Given the description of an element on the screen output the (x, y) to click on. 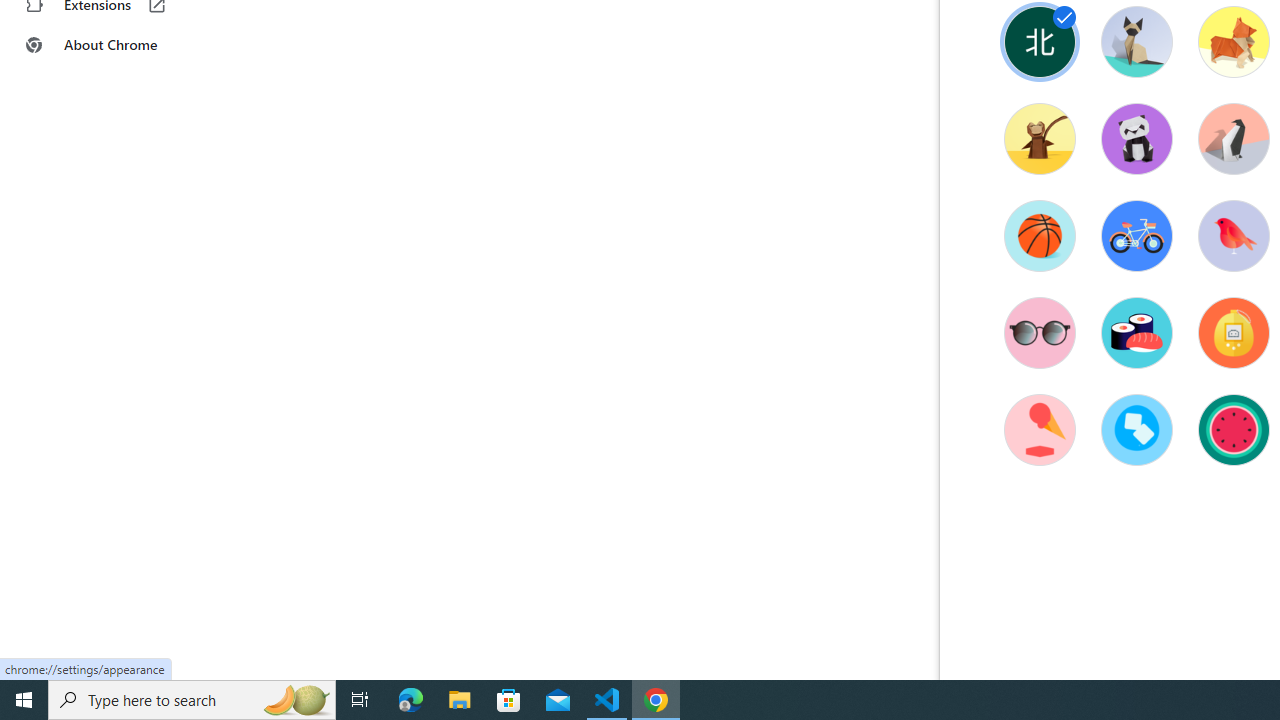
About Chrome (124, 44)
